Given the description of an element on the screen output the (x, y) to click on. 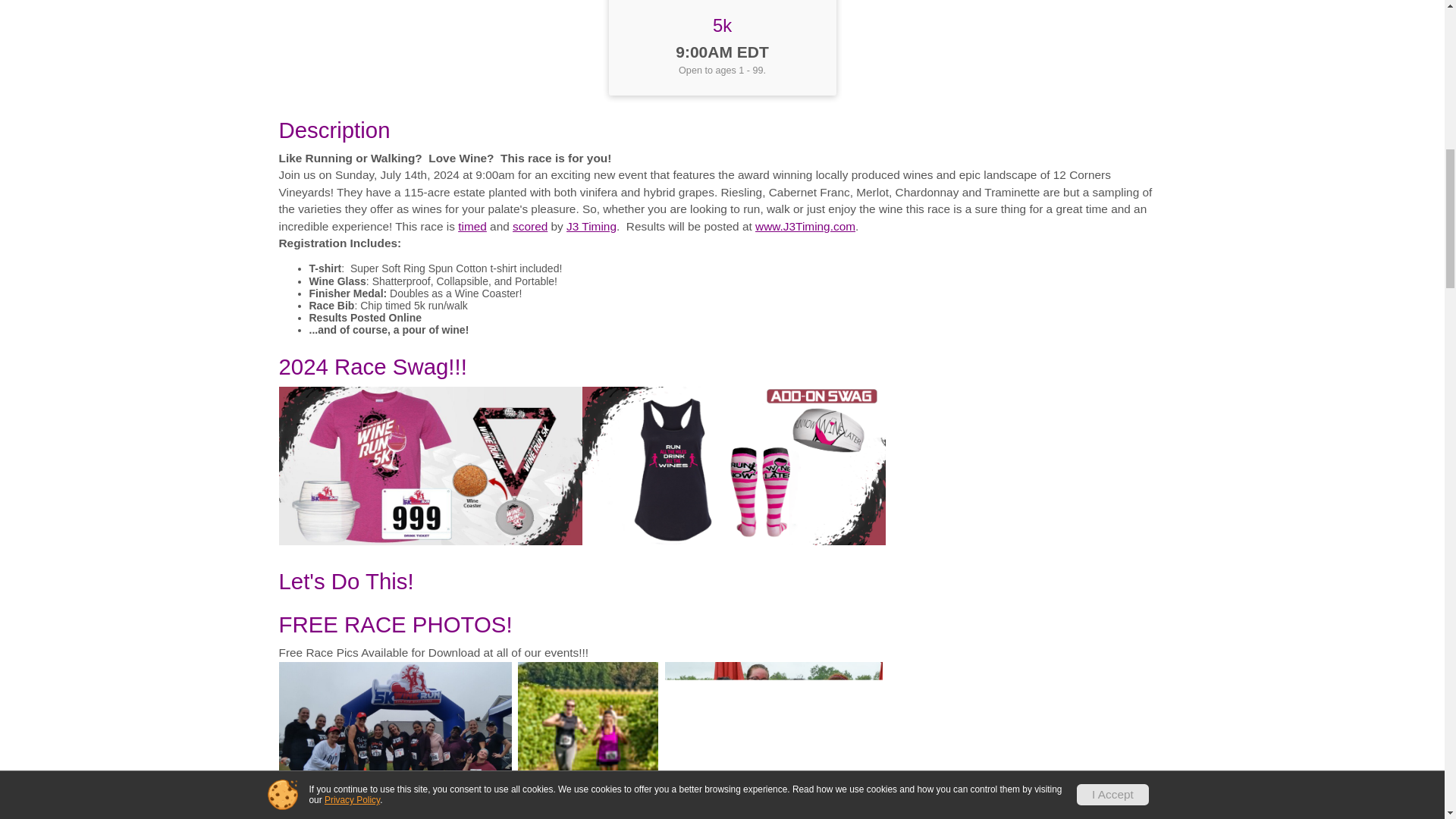
5k (722, 25)
J3 Timing (590, 226)
www.J3Timing.com (805, 226)
timed (472, 226)
scored (529, 226)
